Given the description of an element on the screen output the (x, y) to click on. 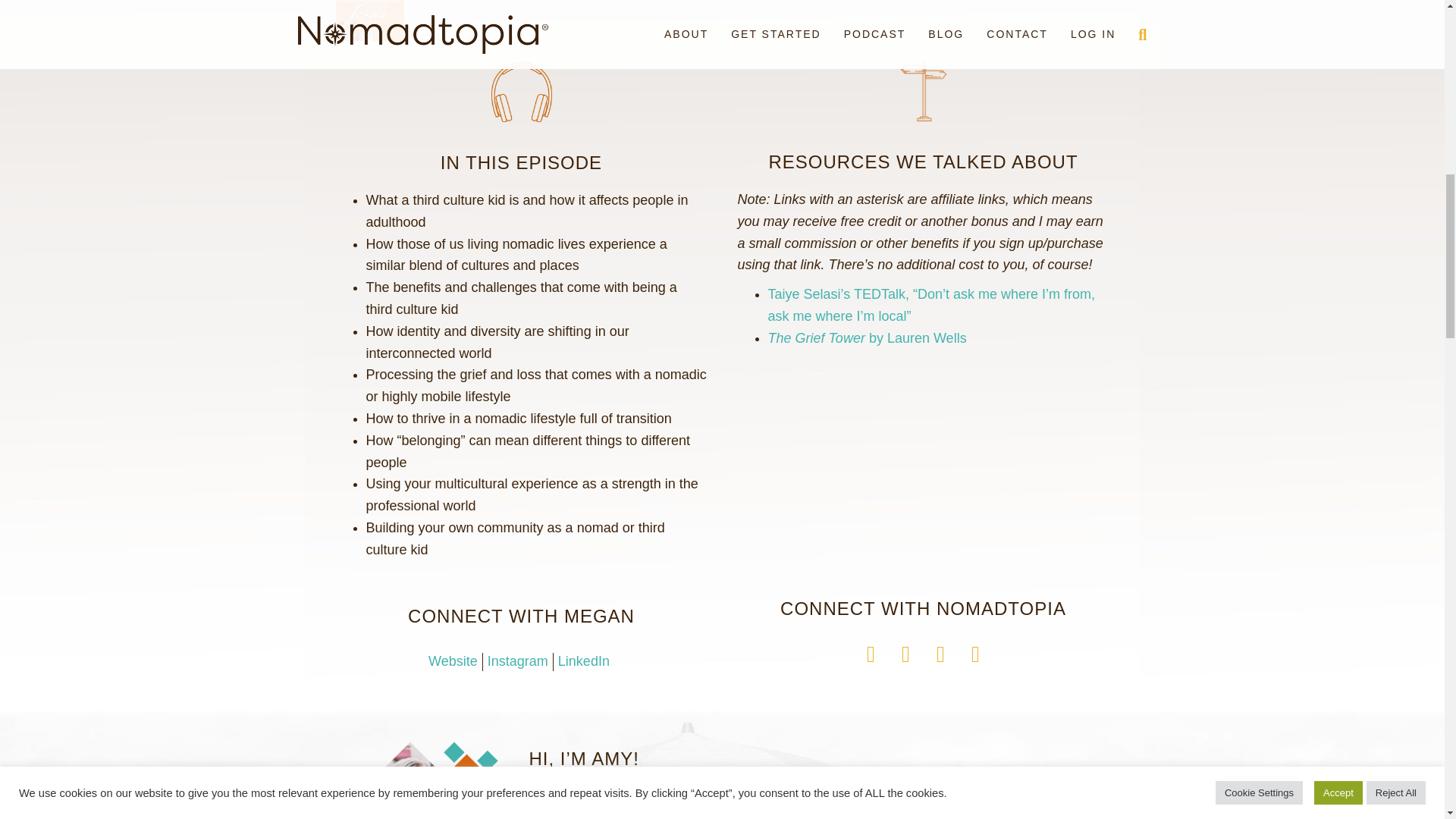
LinkedIn (585, 661)
Libsyn Player (721, 20)
Website (455, 661)
Nomadtopia-About (408, 780)
Instagram (520, 661)
The Grief Tower by Lauren Wells (866, 337)
